Given the description of an element on the screen output the (x, y) to click on. 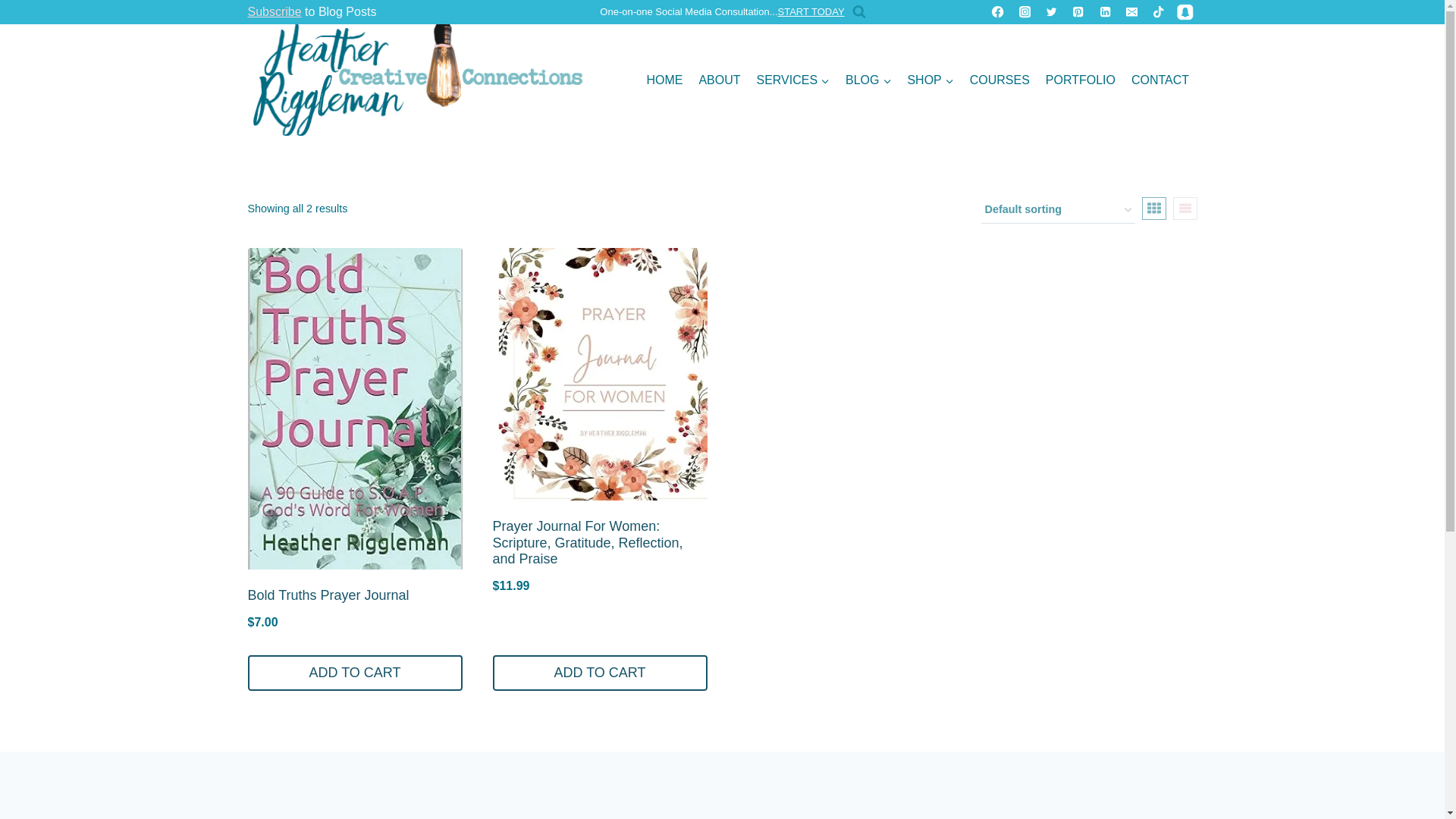
SHOP (929, 80)
START TODAY (810, 11)
ABOUT (719, 80)
BLOG (868, 80)
SERVICES (793, 80)
Grid View (1153, 208)
HOME (664, 80)
Subscribe (274, 11)
List View (1184, 208)
